Given the description of an element on the screen output the (x, y) to click on. 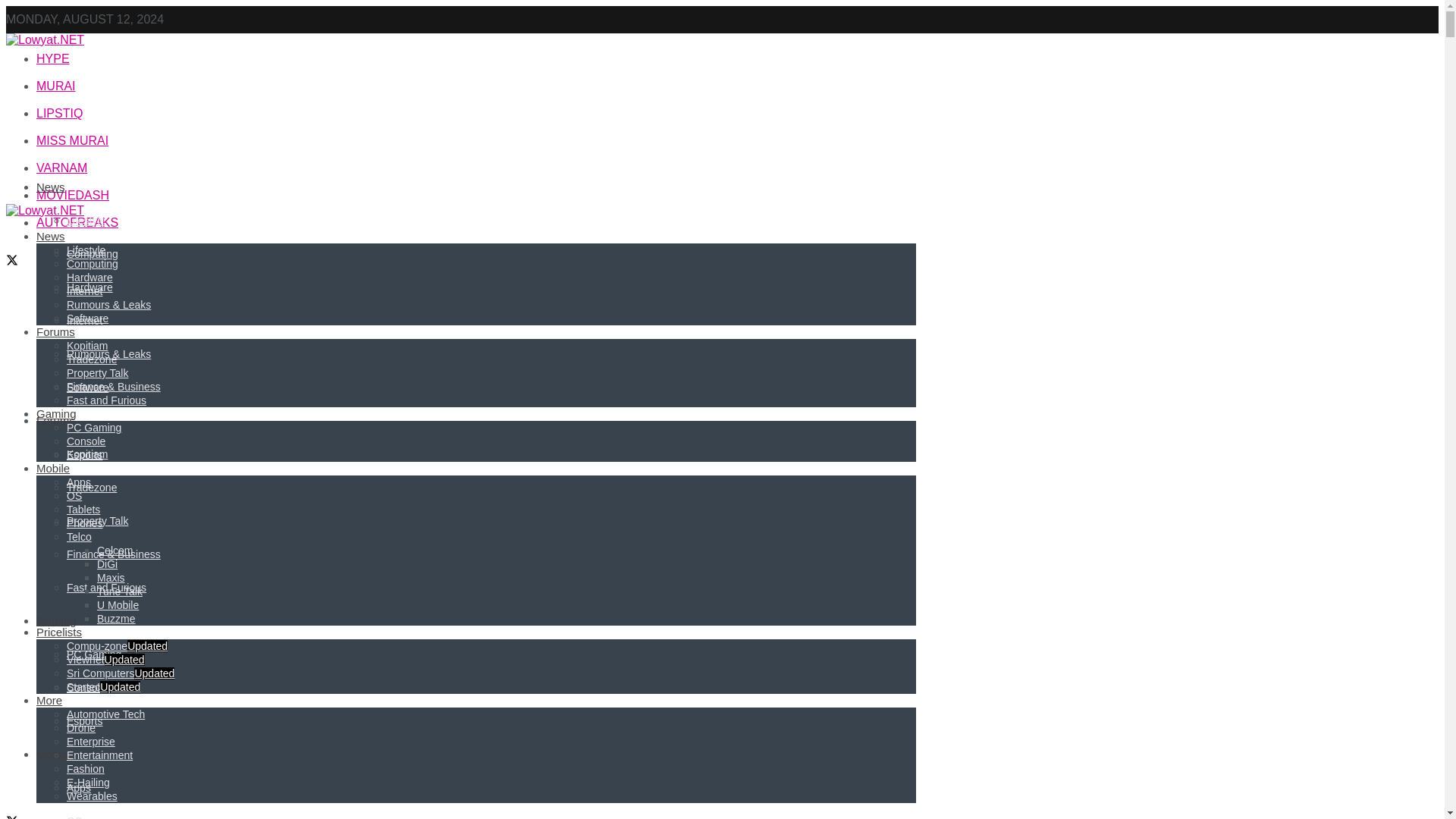
Apps (78, 787)
Lifestyle (85, 220)
LIPSTIQ (59, 113)
Gaming (56, 620)
PC Gaming (93, 654)
OS (73, 816)
HYPE (52, 58)
MOVIEDASH (72, 195)
MURAI (55, 85)
Console (85, 687)
